Given the description of an element on the screen output the (x, y) to click on. 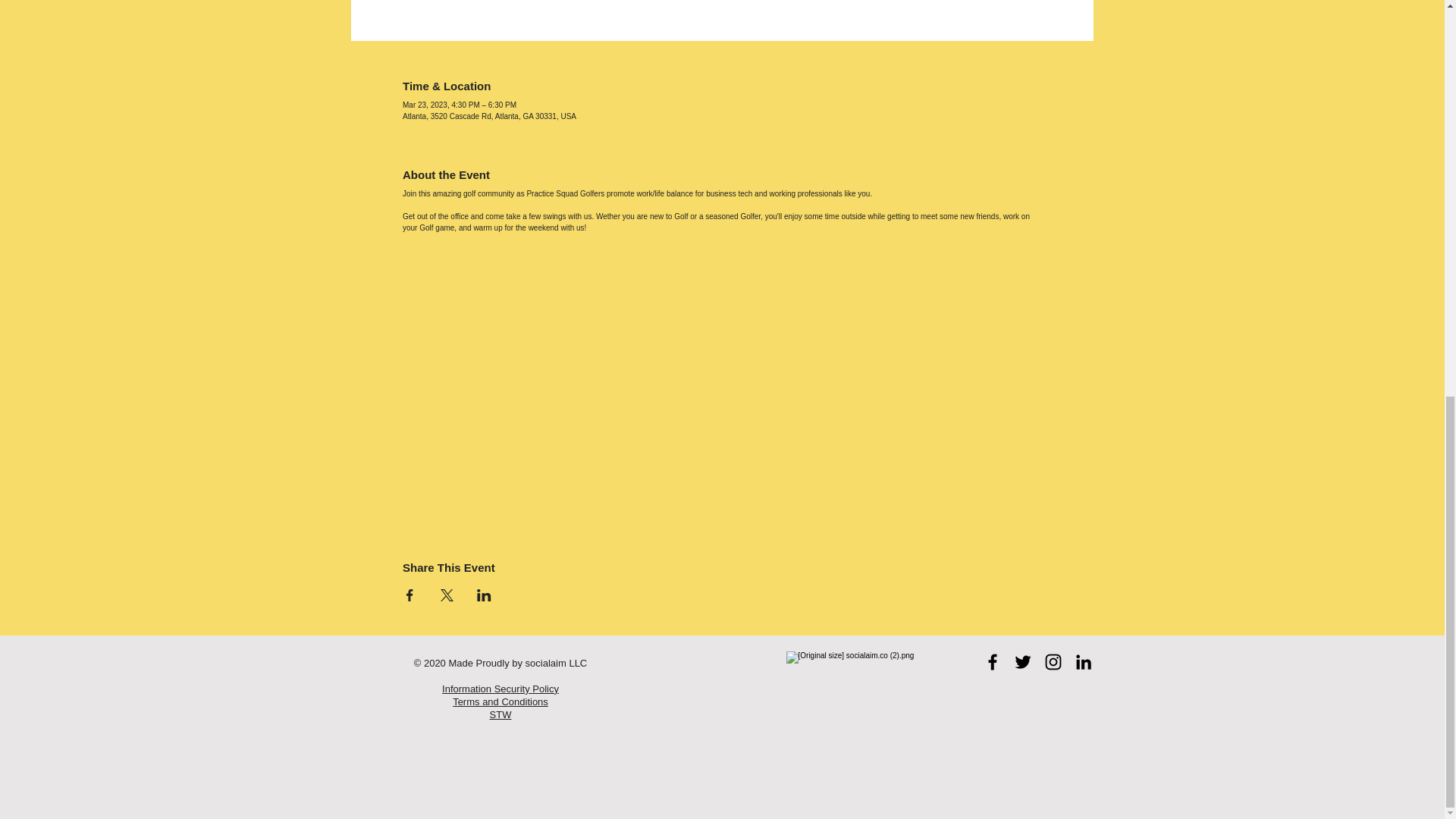
Terms and Conditions (500, 701)
STW (500, 714)
Information Security Policy (500, 688)
